Given the description of an element on the screen output the (x, y) to click on. 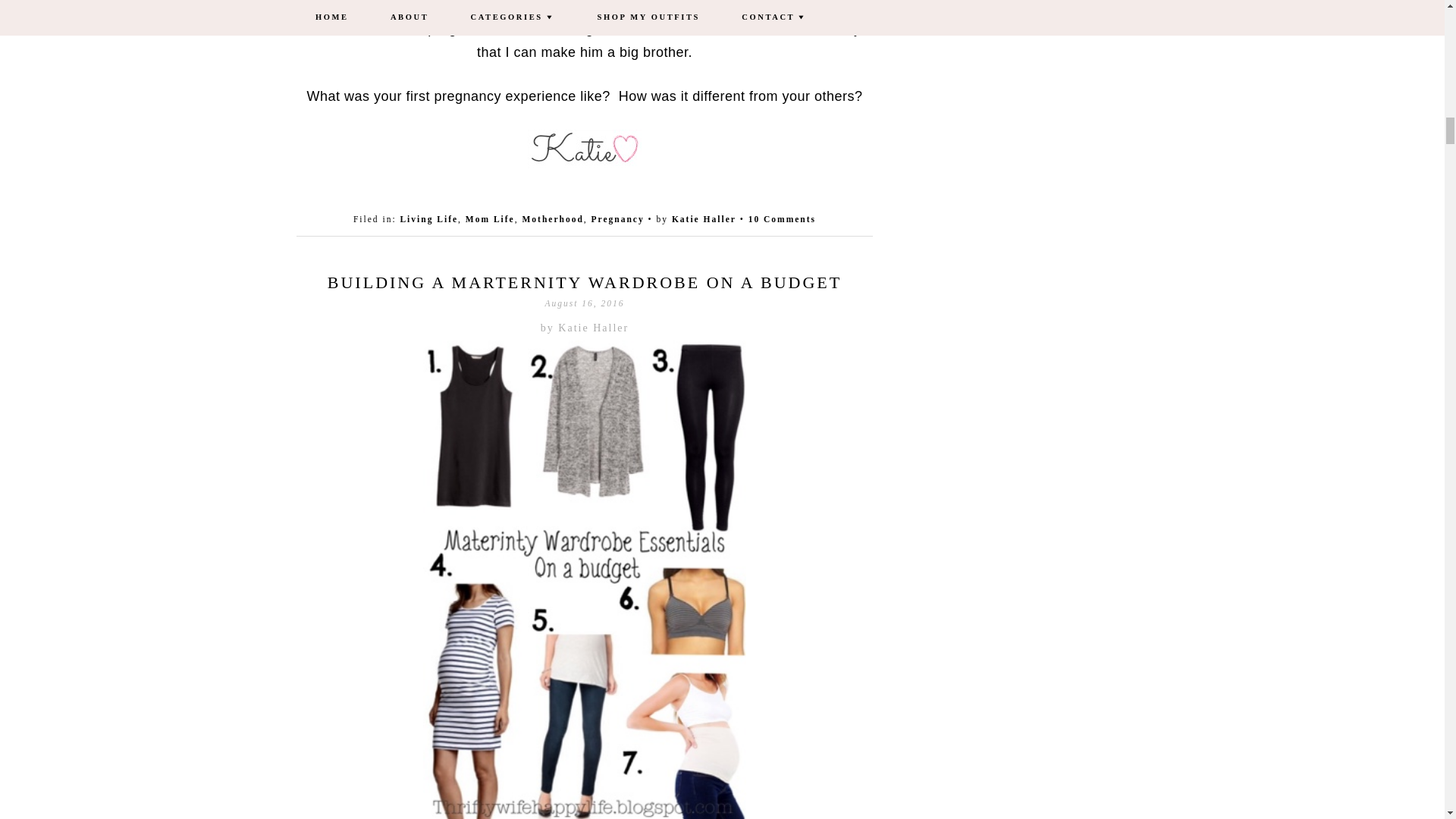
Mom Life (490, 218)
Motherhood (552, 218)
Katie Haller (703, 218)
Living Life (428, 218)
Pregnancy (618, 218)
